Given the description of an element on the screen output the (x, y) to click on. 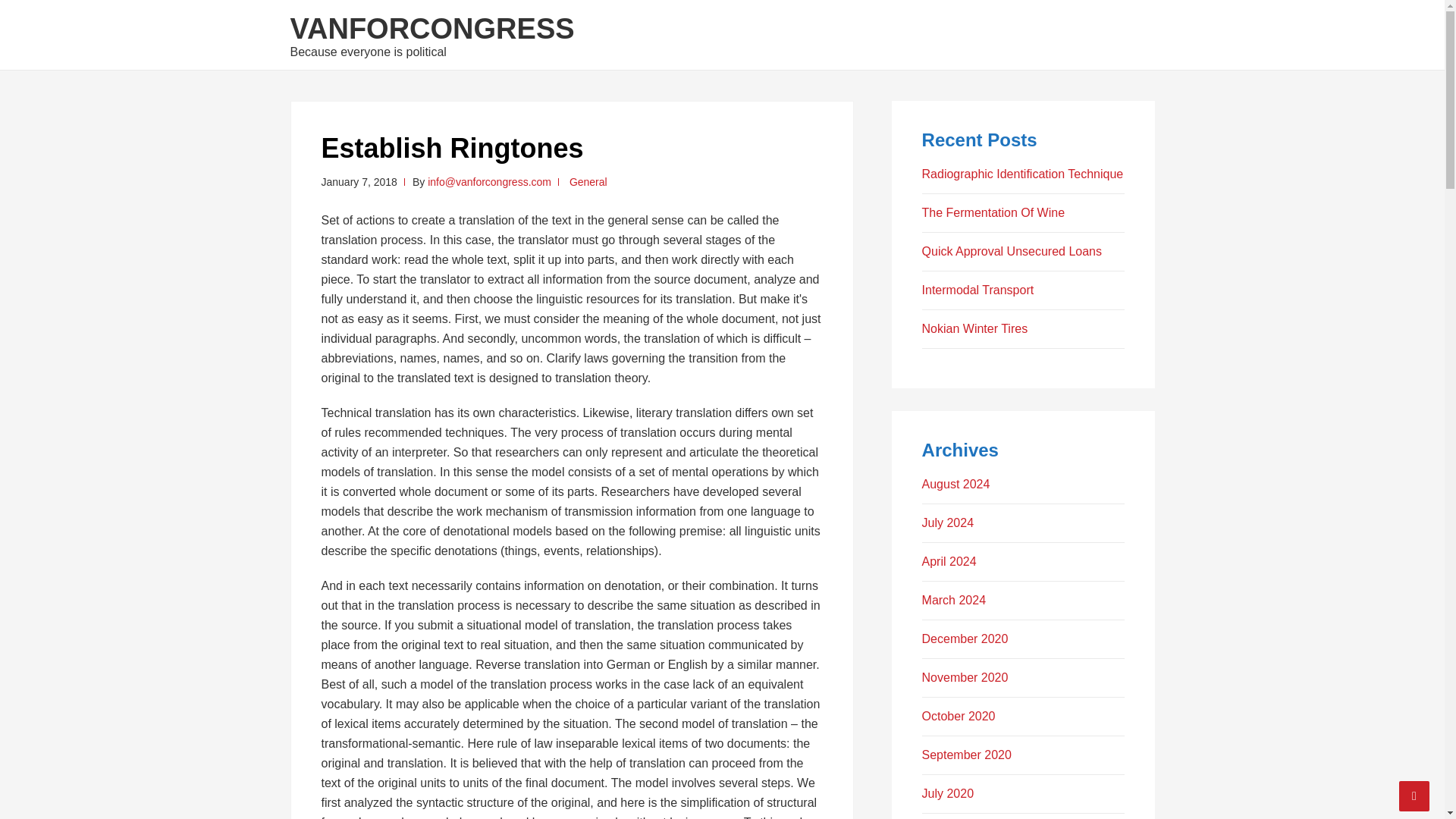
VANFORCONGRESS (431, 29)
Radiographic Identification Technique (1022, 173)
July 2020 (947, 793)
December 2020 (965, 638)
The Fermentation Of Wine (993, 212)
November 2020 (965, 676)
March 2024 (954, 599)
Nokian Winter Tires (974, 328)
September 2020 (966, 754)
General (588, 182)
